Given the description of an element on the screen output the (x, y) to click on. 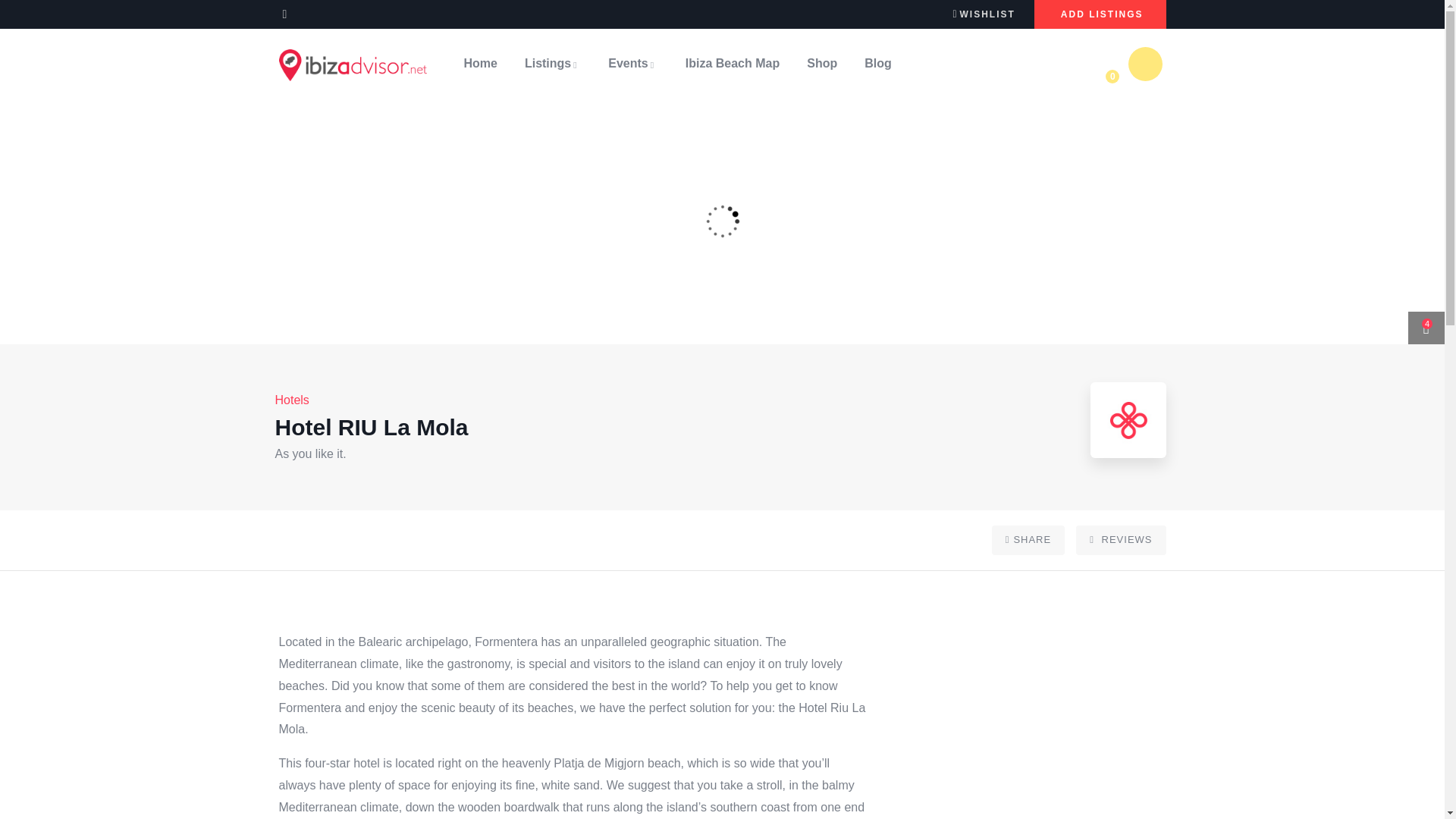
WISHLIST (983, 13)
ADD LISTINGS (1099, 14)
Home (353, 65)
